Given the description of an element on the screen output the (x, y) to click on. 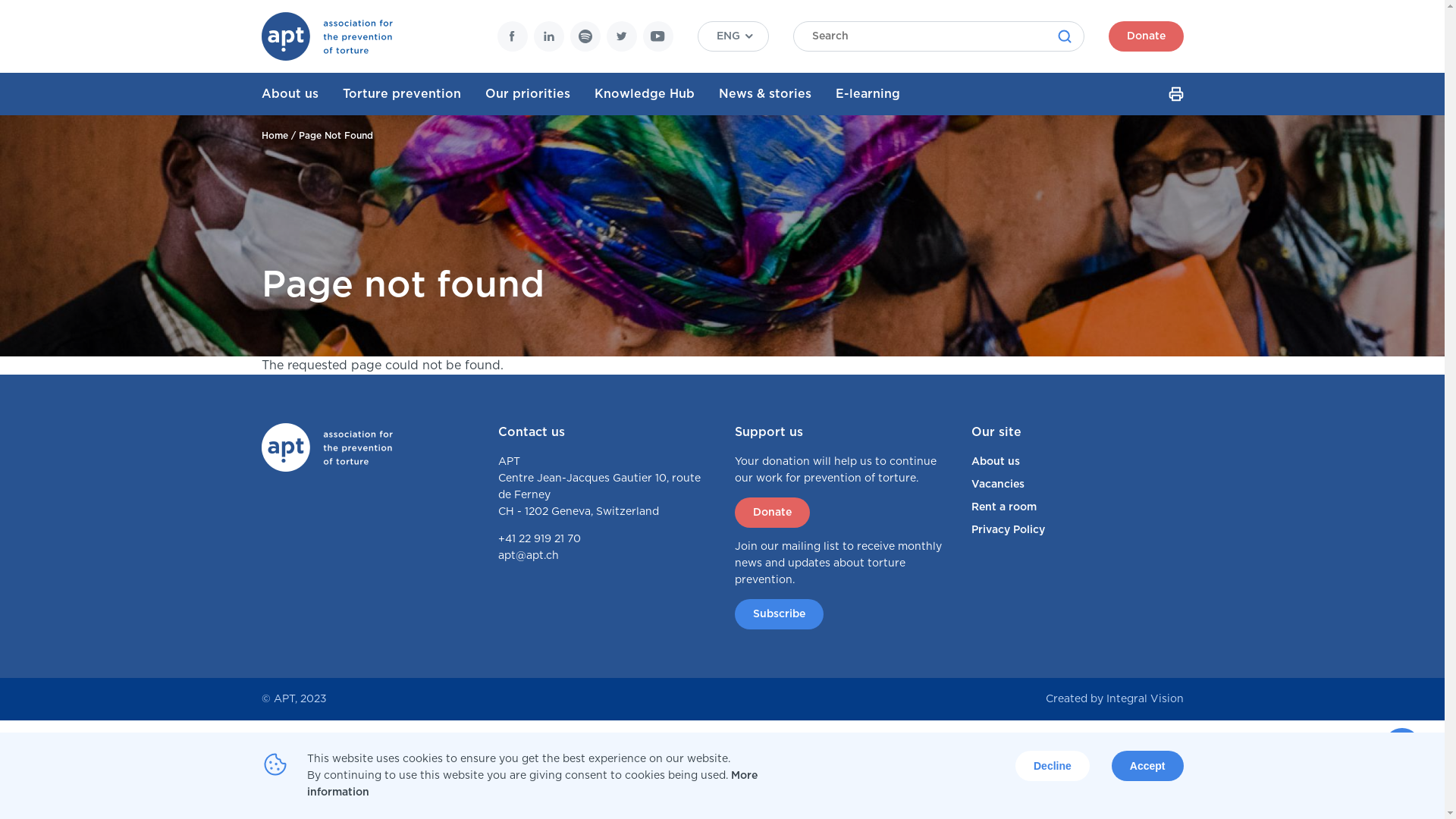
E-learning Element type: text (879, 93)
Accept Element type: text (1147, 765)
Decline Element type: text (1052, 765)
Apply Element type: text (1064, 36)
Twitter Element type: text (621, 36)
About us Element type: text (1076, 461)
Back to top Element type: text (1401, 746)
Rent a room Element type: text (1076, 506)
Our priorities Element type: text (539, 93)
Facebook Element type: text (512, 36)
Spotify Element type: text (585, 36)
More information Element type: text (531, 783)
About us Element type: text (301, 93)
Privacy Policy Element type: text (1076, 529)
Torture prevention Element type: text (413, 93)
YouTube Element type: text (658, 36)
LinkedIn Element type: text (548, 36)
Knowledge Hub Element type: text (656, 93)
Donate Element type: text (1145, 36)
Print Icon Element type: text (1175, 93)
Skip to main content Element type: text (0, 113)
Home Element type: text (273, 135)
Subscribe Element type: text (778, 614)
Created by Integral Vision Element type: text (1113, 698)
Donate Element type: text (771, 512)
Vacancies Element type: text (1076, 484)
